Given the description of an element on the screen output the (x, y) to click on. 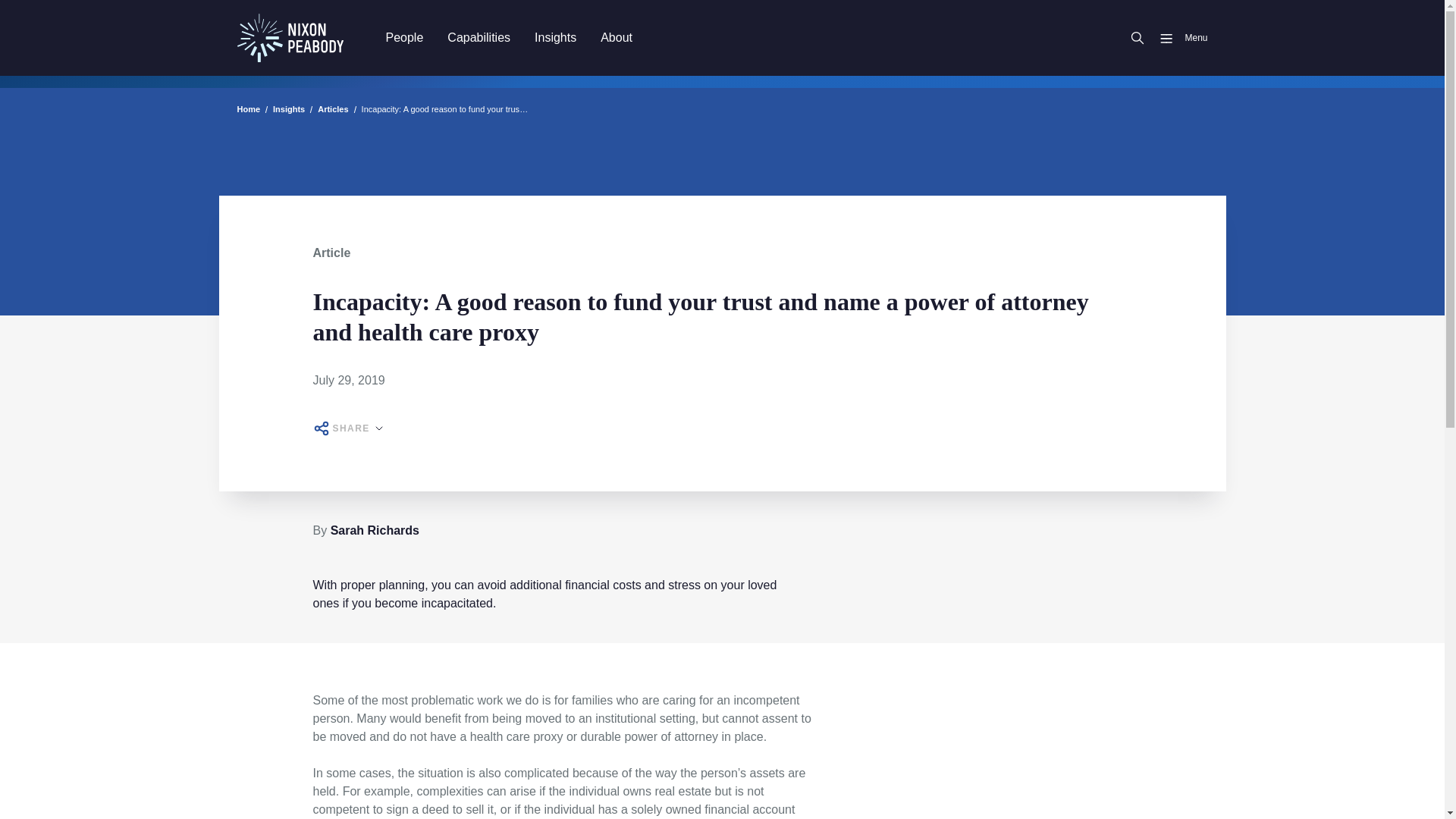
About (616, 37)
Insights (555, 37)
Menu (1177, 37)
Capabilities (478, 37)
People (403, 37)
